Given the description of an element on the screen output the (x, y) to click on. 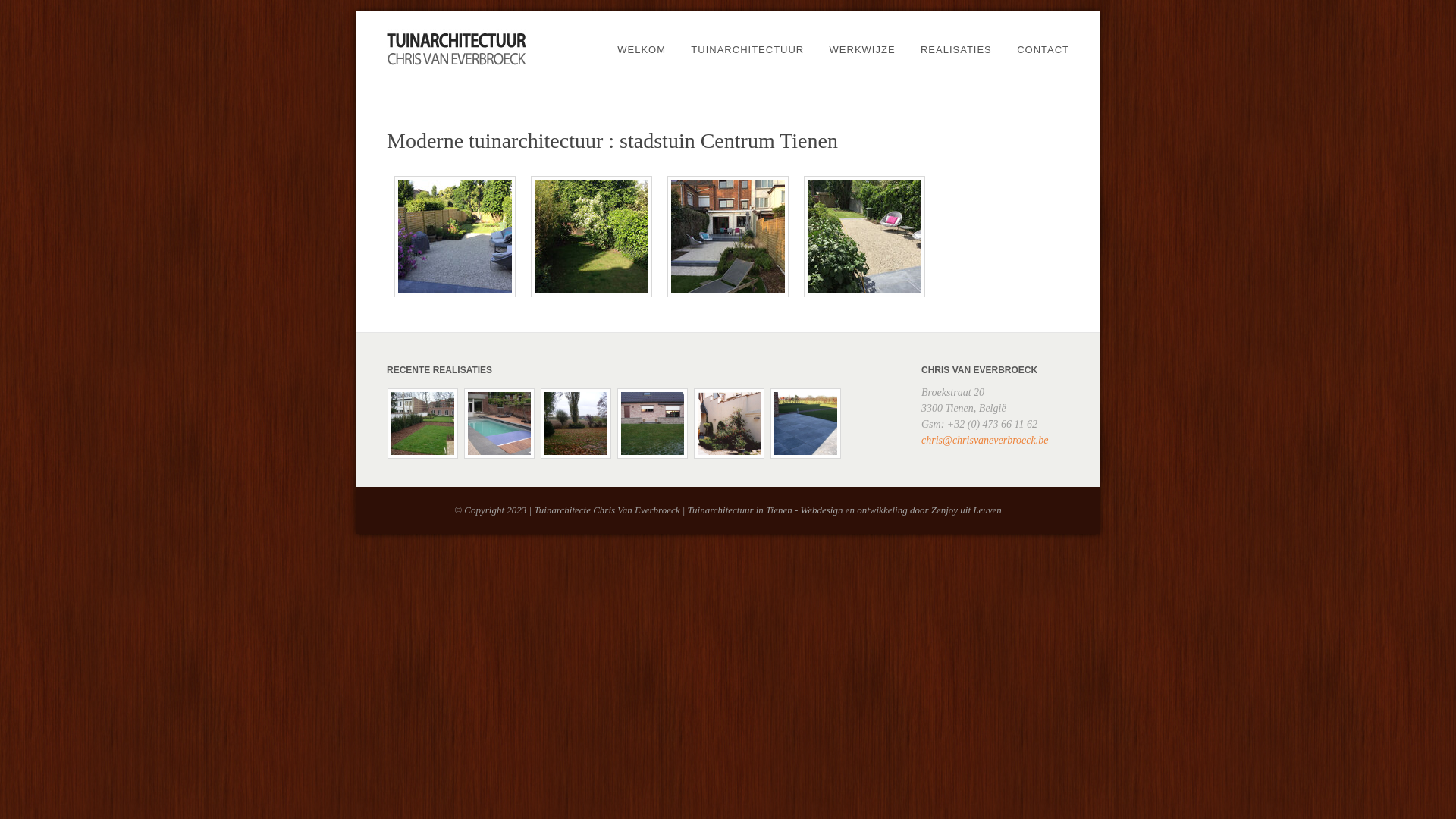
Webdesign en ontwikkeling door Zenjoy uit Leuven Element type: text (900, 509)
TUINARCHITECTUUR Element type: text (747, 49)
chris@chrisvaneverbroeck.be Element type: text (984, 439)
Lounge gedeelte Element type: hover (864, 236)
Terras vergroot Element type: hover (454, 236)
WELKOM Element type: text (641, 49)
Terras vergroot Element type: hover (454, 293)
REALISATIES Element type: text (956, 49)
WERKWIJZE Element type: text (862, 49)
Tuinmeubilair Element type: hover (727, 236)
bestaande tuin voor aanleg Element type: hover (591, 293)
Lounge gedeelte Element type: hover (864, 293)
bestaande tuin voor aanleg Element type: hover (591, 236)
CONTACT Element type: text (1042, 49)
Tuinmeubilair Element type: hover (727, 293)
